Given the description of an element on the screen output the (x, y) to click on. 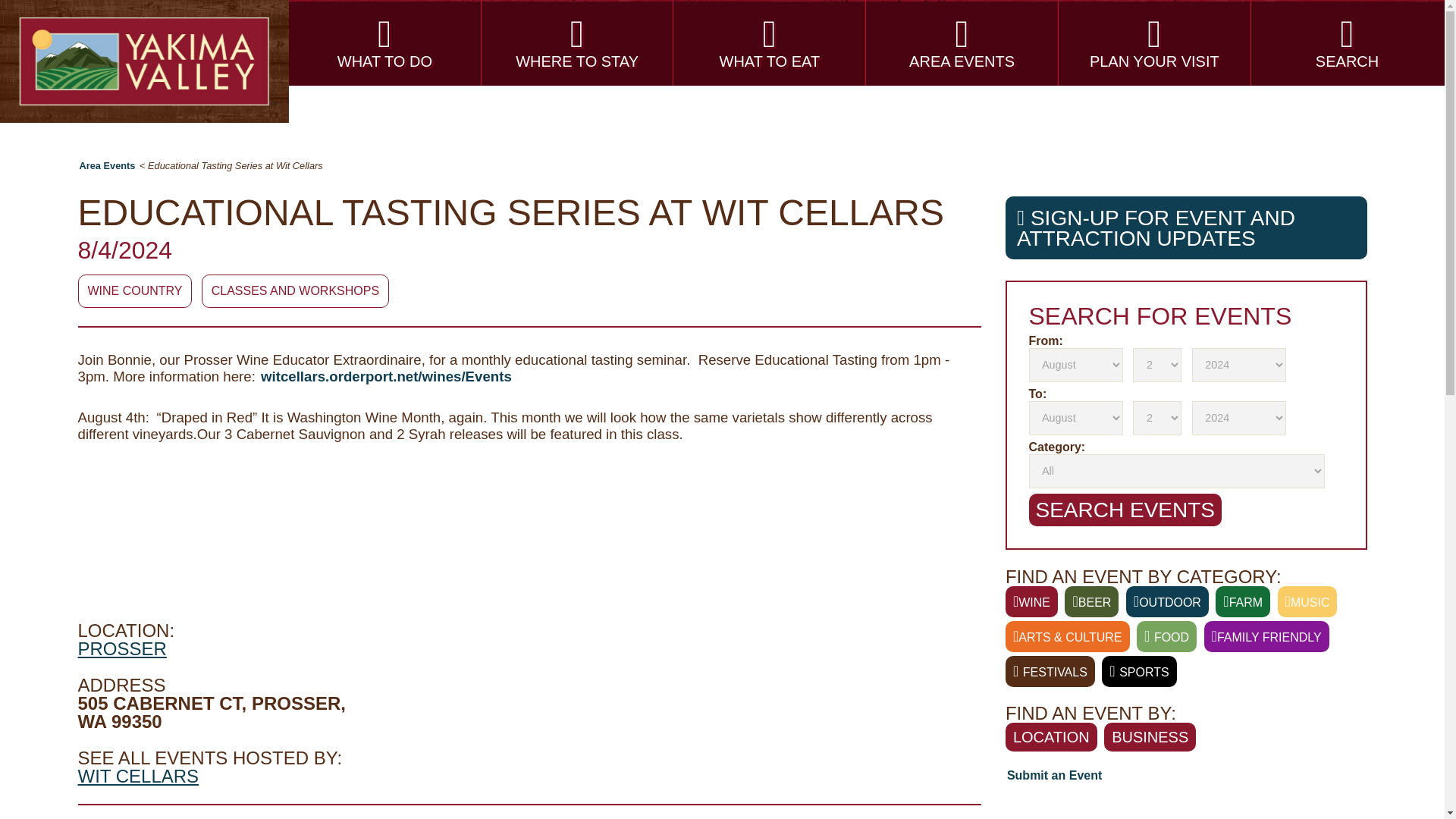
Sign-up for Yakima Valley Event and Attraction Updates (1186, 227)
FOOD (1166, 635)
FESTIVALS (1050, 671)
LOCATION (1051, 736)
Submit an Event (1054, 775)
Yakima Valley Seasonal Activites, Maps, Tours and Guides (1154, 42)
WINE COUNTRY (134, 290)
CLASSES AND WORKSHOPS (295, 290)
Yakima Valley Attractions and Activities (384, 42)
OUTDOOR (1166, 601)
Events in Prosser (121, 648)
Find Yakima Valley Events by Location (1032, 601)
SIGN-UP FOR EVENT AND ATTRACTION UPDATES (1186, 227)
Area Events (106, 164)
Wine Country (134, 290)
